Given the description of an element on the screen output the (x, y) to click on. 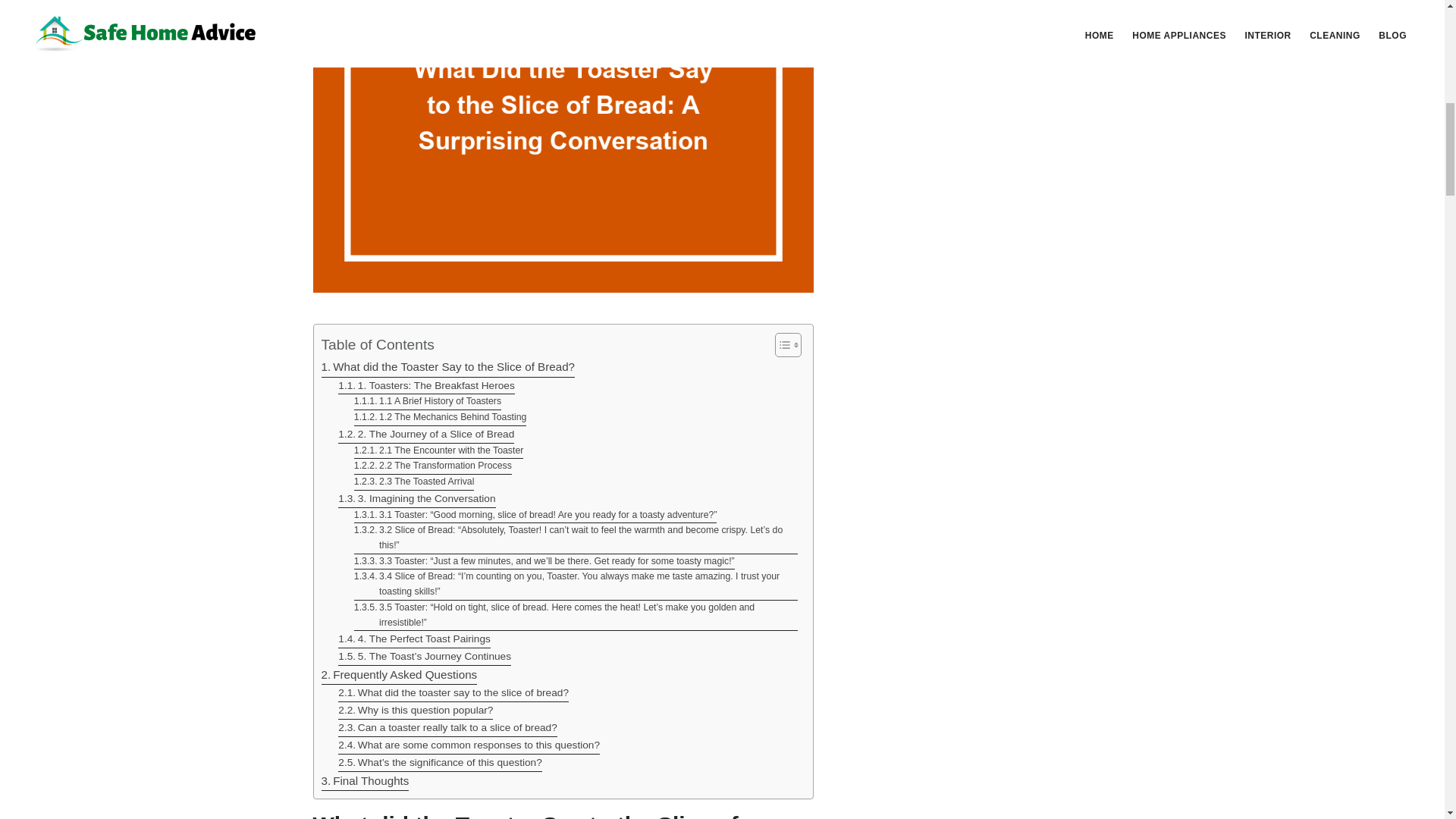
What did the Toaster Say to the Slice of Bread? (448, 366)
1.1 A Brief History of Toasters (426, 401)
What did the Toaster Say to the Slice of Bread? (448, 366)
1.2 The Mechanics Behind Toasting (440, 417)
2. The Journey of a Slice of Bread (425, 434)
2.2 The Transformation Process (432, 466)
1.2 The Mechanics Behind Toasting (440, 417)
4. The Perfect Toast Pairings (413, 639)
2.1 The Encounter with the Toaster (438, 451)
3. Imagining the Conversation (416, 498)
1.1 A Brief History of Toasters (426, 401)
1. Toasters: The Breakfast Heroes (426, 385)
1. Toasters: The Breakfast Heroes (426, 385)
2.3 The Toasted Arrival (413, 482)
2. The Journey of a Slice of Bread (425, 434)
